Given the description of an element on the screen output the (x, y) to click on. 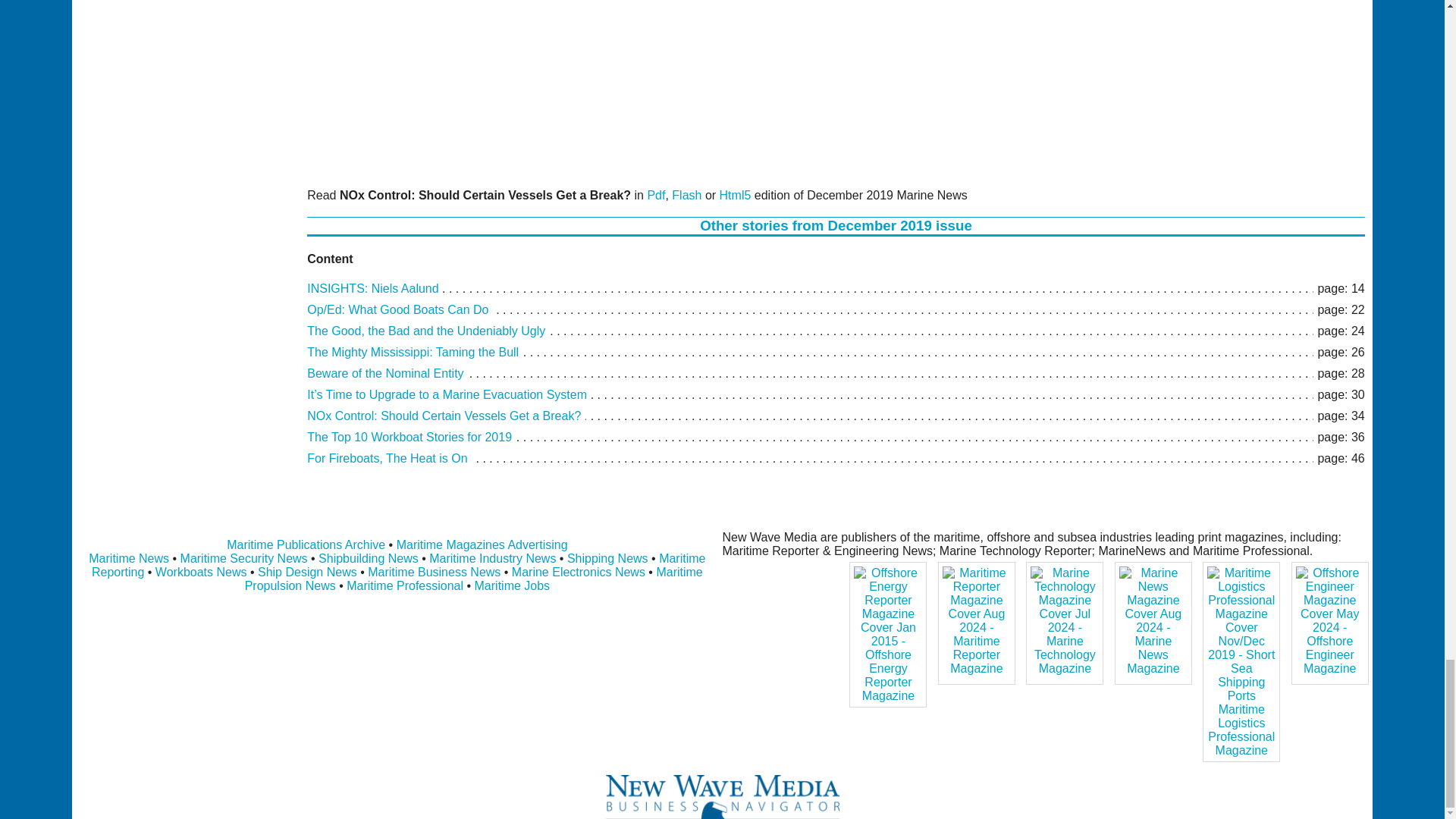
INSIGHTS: Niels Aalund (372, 287)
The Mighty Mississippi: Taming the Bull (412, 351)
Shipping News (607, 558)
Maritime Security News (243, 558)
Html5 (735, 195)
Maritime Propulsion News (473, 578)
Maritime Magazines Advertising (481, 544)
Workboat, Pushboat, Tugboat (201, 571)
Ship Design News (308, 571)
Workboats News (201, 571)
